Given the description of an element on the screen output the (x, y) to click on. 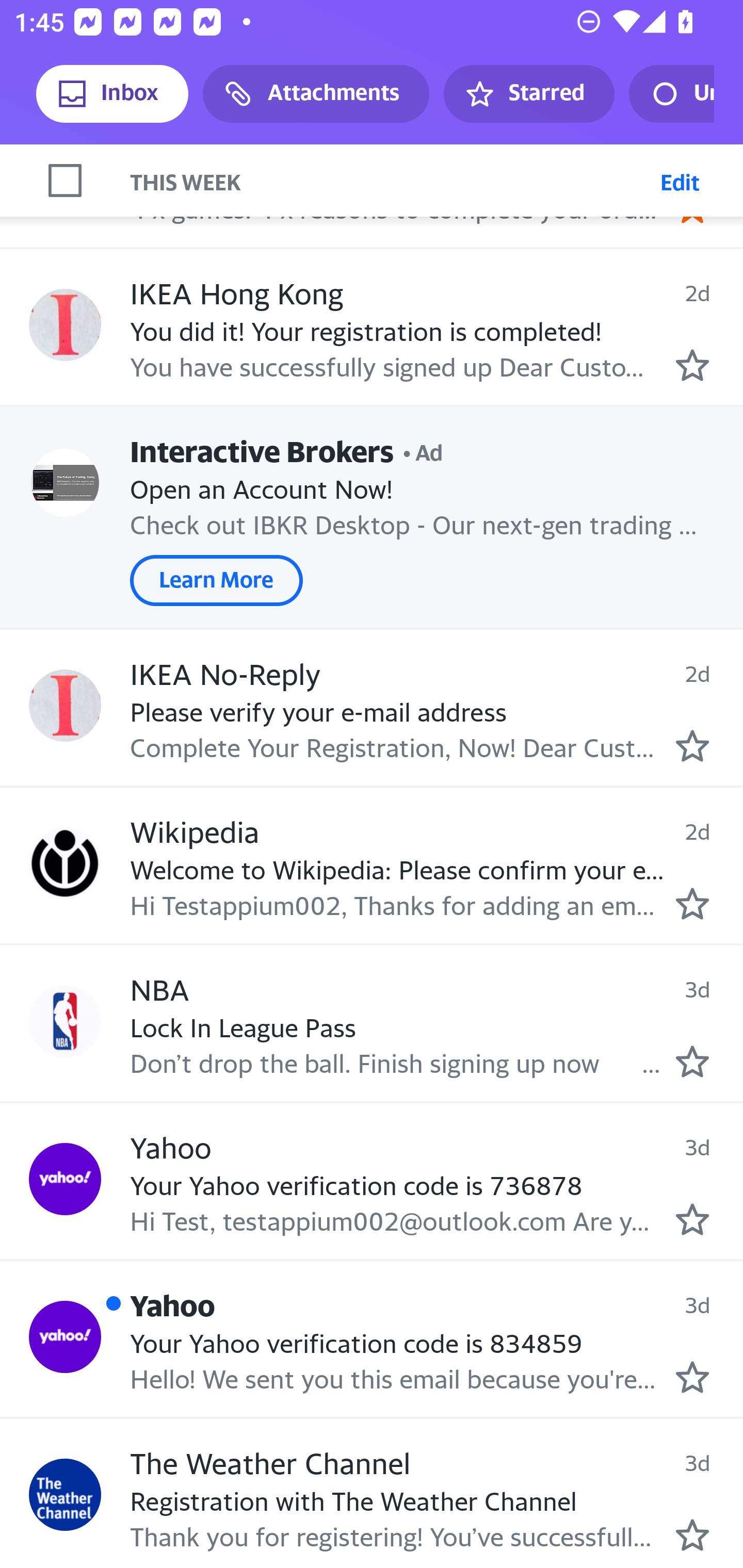
Attachments (315, 93)
Starred (528, 93)
Profile
IKEA Hong Kong (64, 324)
Mark as starred. (692, 364)
Profile
IKEA No-Reply (64, 705)
Mark as starred. (692, 745)
Profile
Wikipedia (64, 863)
Mark as starred. (692, 903)
Profile
NBA (64, 1020)
Mark as starred. (692, 1060)
Profile
Yahoo (64, 1179)
Mark as starred. (692, 1219)
Profile
Yahoo (64, 1337)
Mark as starred. (692, 1377)
Profile
The Weather Channel (64, 1494)
Mark as starred. (692, 1534)
